Given the description of an element on the screen output the (x, y) to click on. 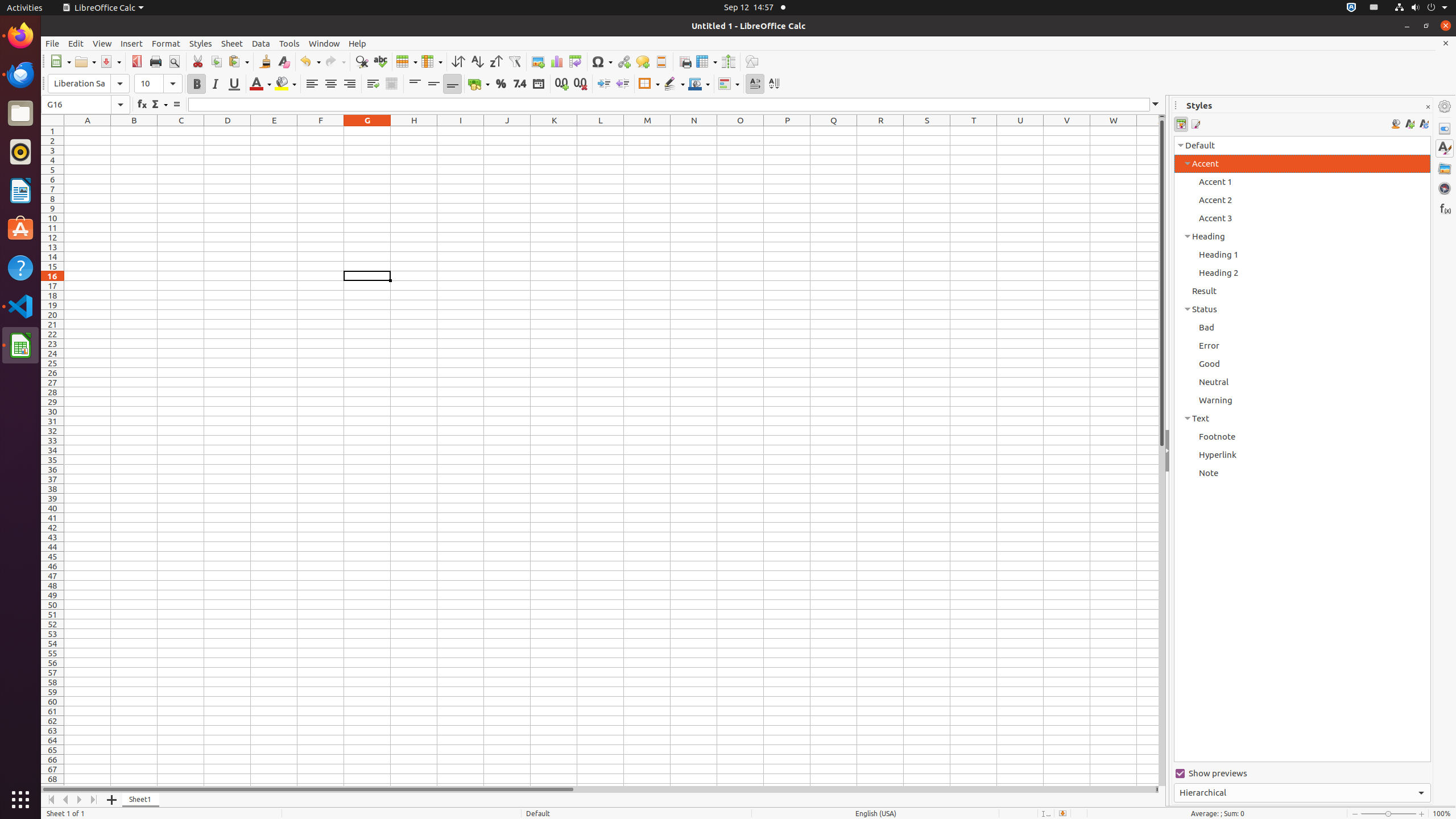
Copy Element type: push-button (216, 61)
Update Style Element type: push-button (1423, 123)
LibreOffice Calc Element type: menu (102, 7)
Move Left Element type: push-button (65, 799)
Select Function Element type: push-button (159, 104)
